Given the description of an element on the screen output the (x, y) to click on. 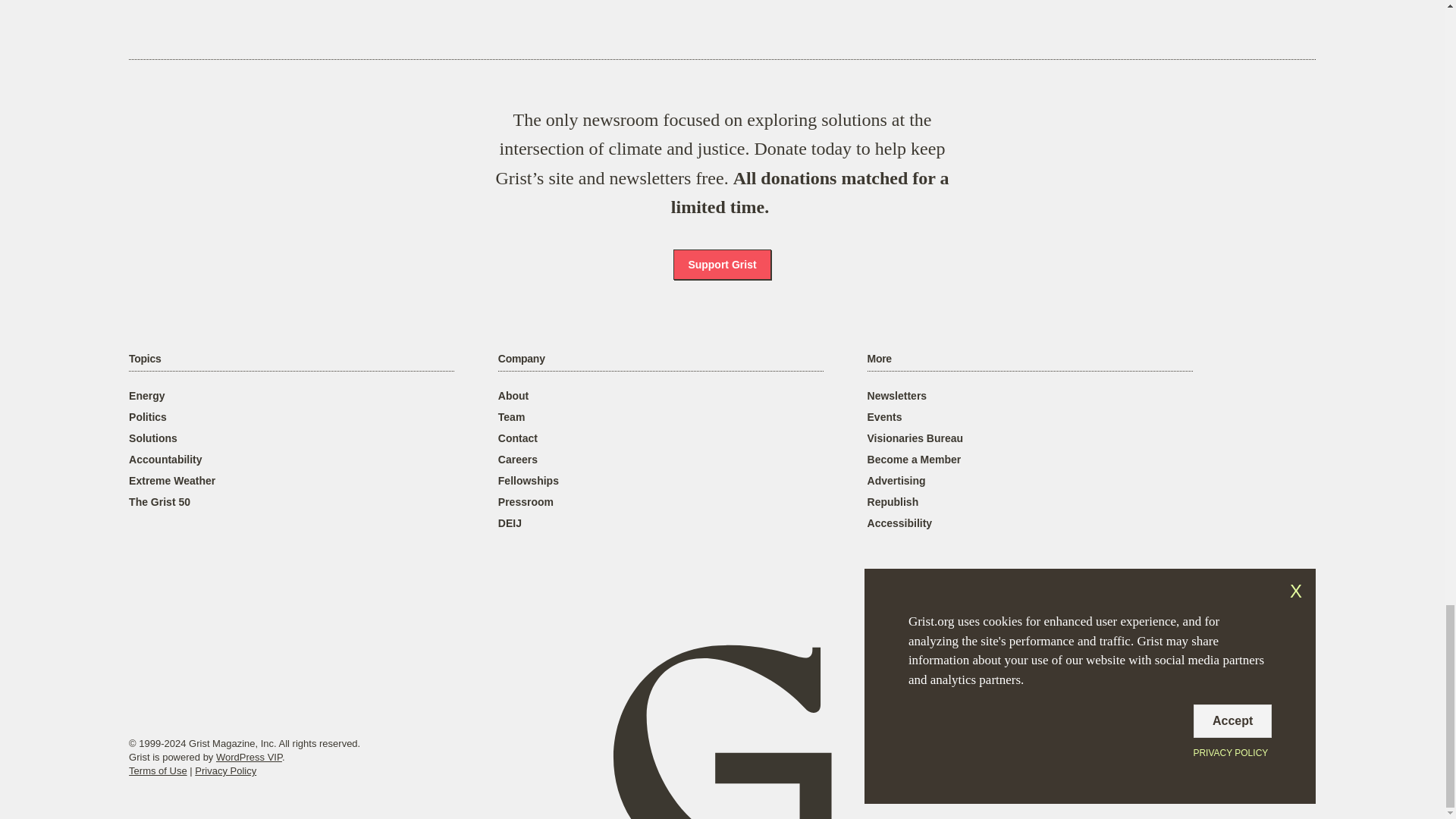
More (879, 358)
Topics (144, 358)
Company (520, 358)
